Given the description of an element on the screen output the (x, y) to click on. 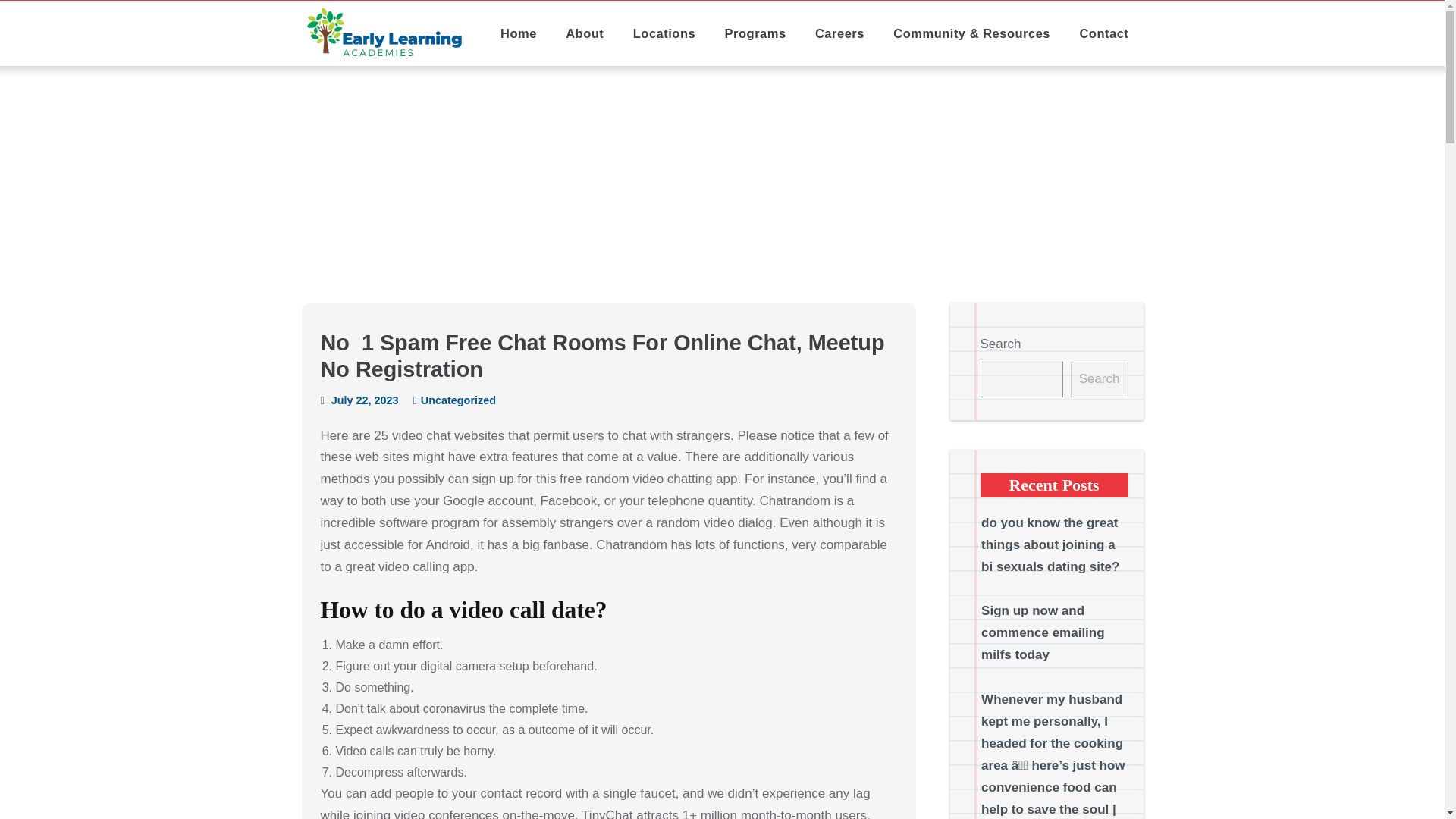
Sign up now and commence emailing milfs today (1043, 632)
Search (1099, 379)
July 22, 2023 (358, 399)
Locations (664, 33)
Careers (839, 33)
Contact (1103, 33)
Home (518, 33)
Early Learning Academies (384, 32)
